Given the description of an element on the screen output the (x, y) to click on. 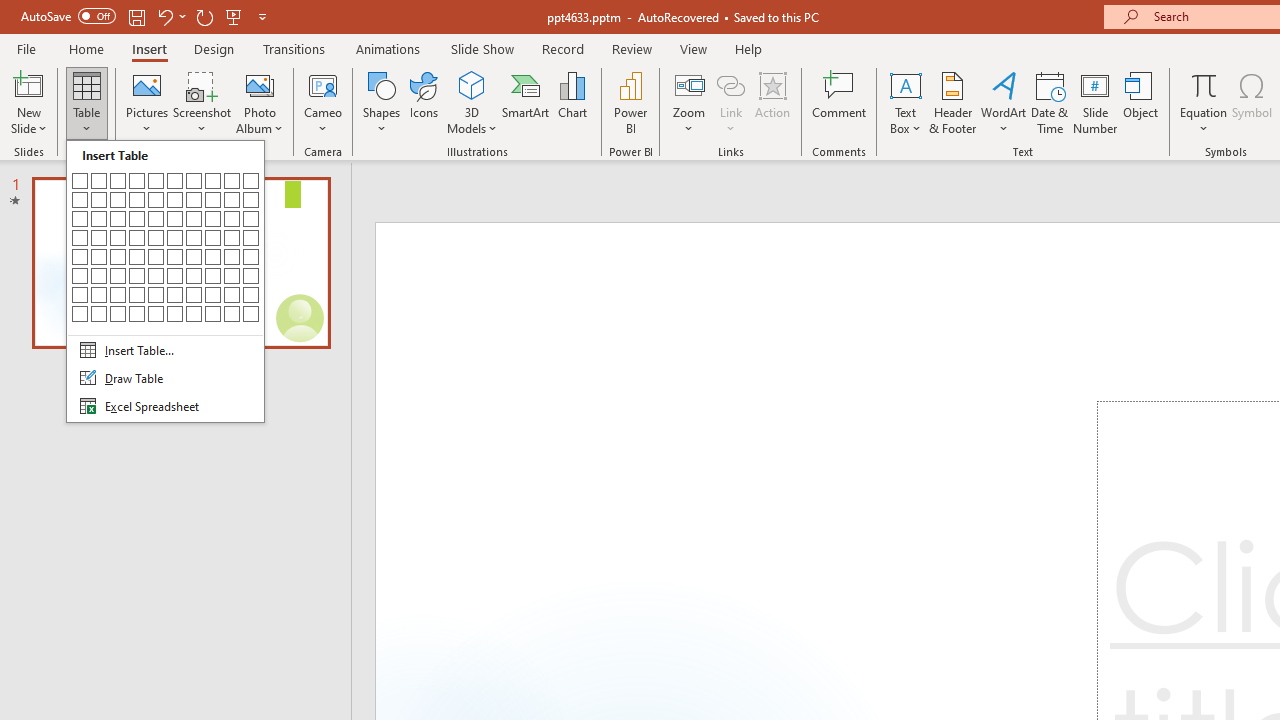
Action (772, 102)
New Photo Album... (259, 84)
Photo Album... (259, 102)
Chart... (572, 102)
Header & Footer... (952, 102)
